Given the description of an element on the screen output the (x, y) to click on. 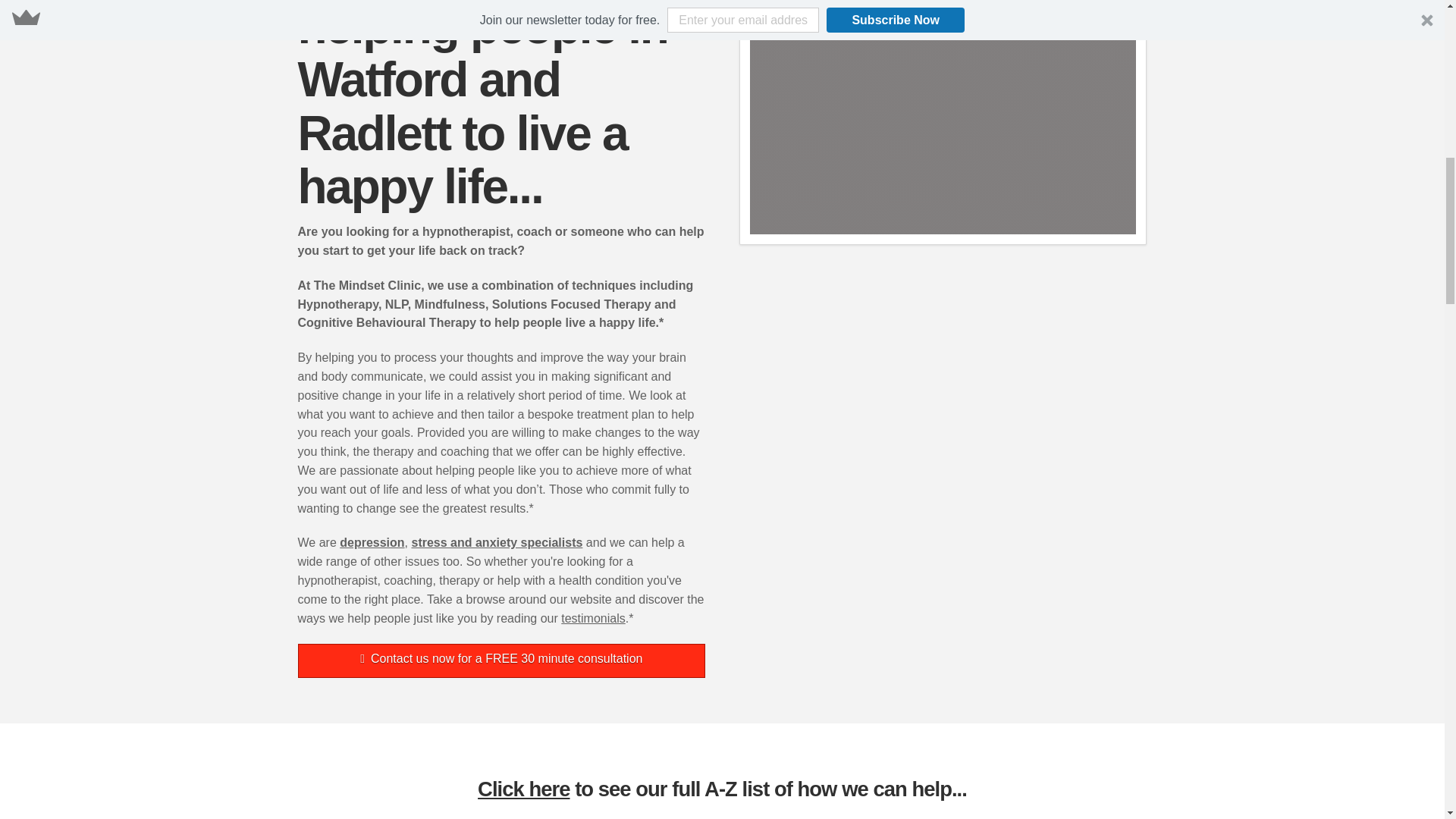
Free 30 minute consultation (500, 660)
